Given the description of an element on the screen output the (x, y) to click on. 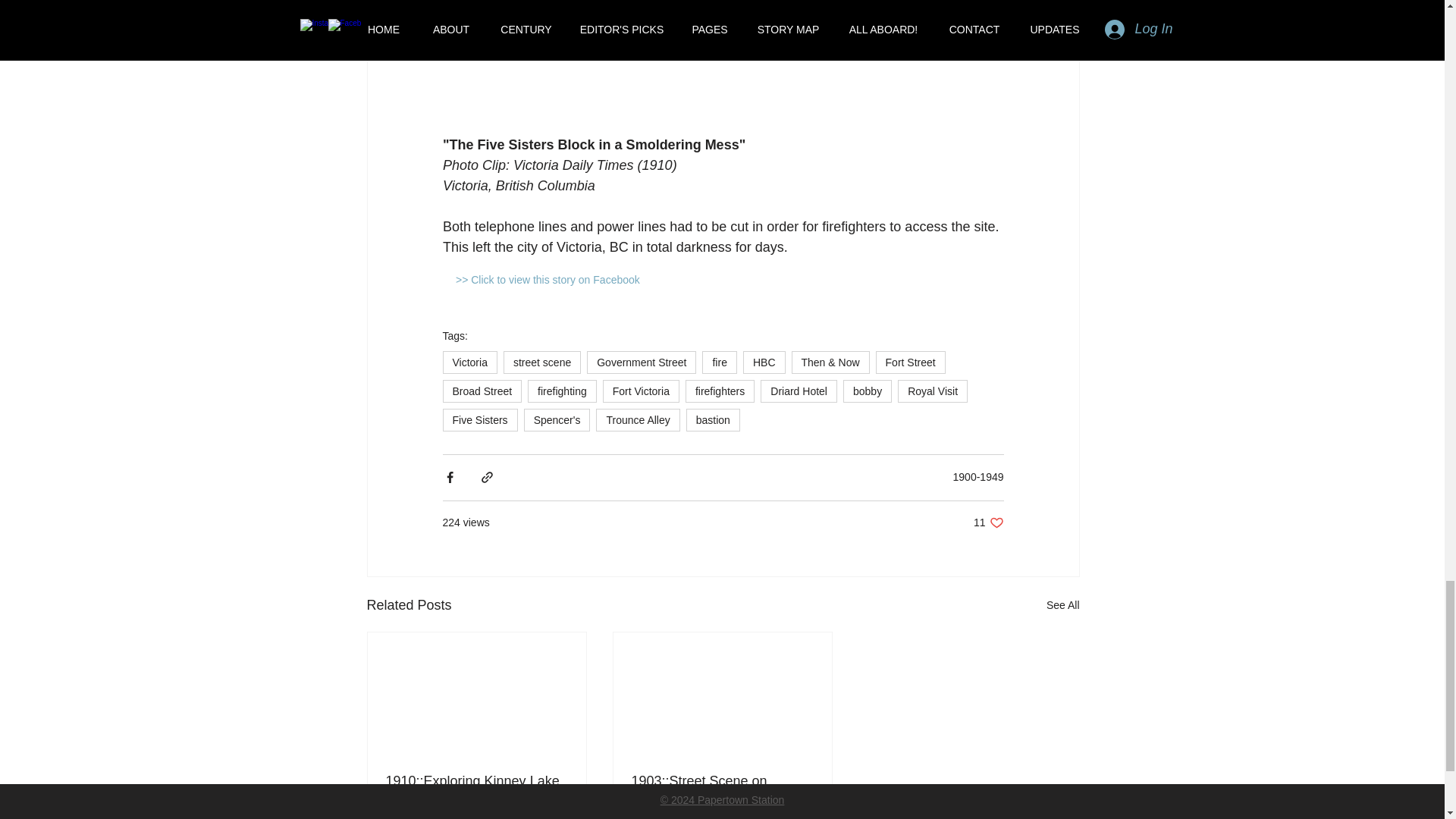
bobby (867, 391)
Victoria (469, 362)
Fort Victoria (640, 391)
Five Sisters (480, 419)
Broad Street (482, 391)
firefighters (719, 391)
HBC (764, 362)
Spencer's (557, 419)
Royal Visit (933, 391)
firefighting (561, 391)
